Given the description of an element on the screen output the (x, y) to click on. 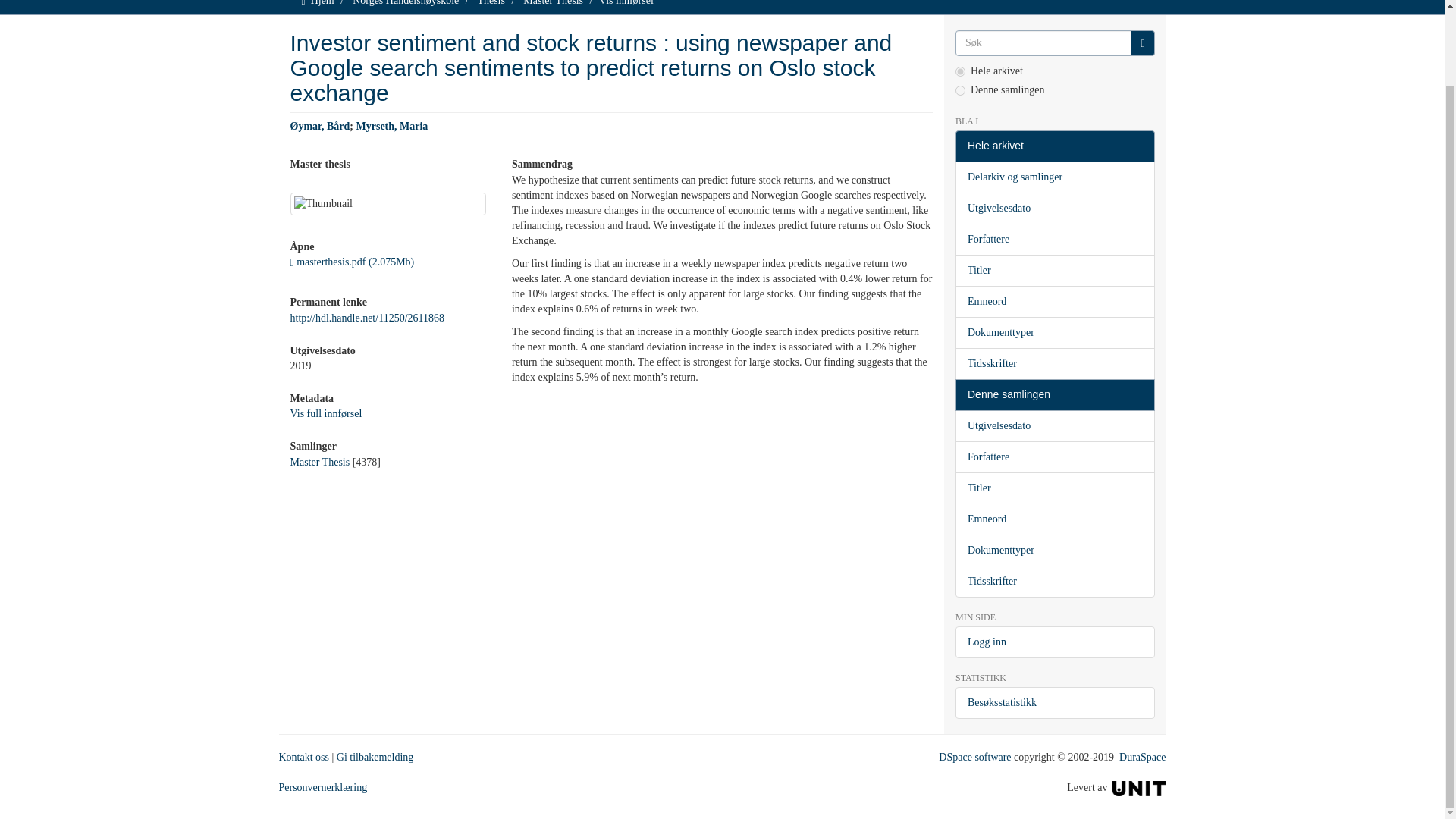
Master Thesis (319, 461)
Master Thesis (552, 2)
Hjem (322, 2)
Unit (1139, 787)
Hele arkivet (1054, 146)
Forfattere (1054, 239)
Titler (1054, 270)
Myrseth, Maria (392, 125)
Utgivelsesdato (1054, 208)
Thesis (491, 2)
